Given the description of an element on the screen output the (x, y) to click on. 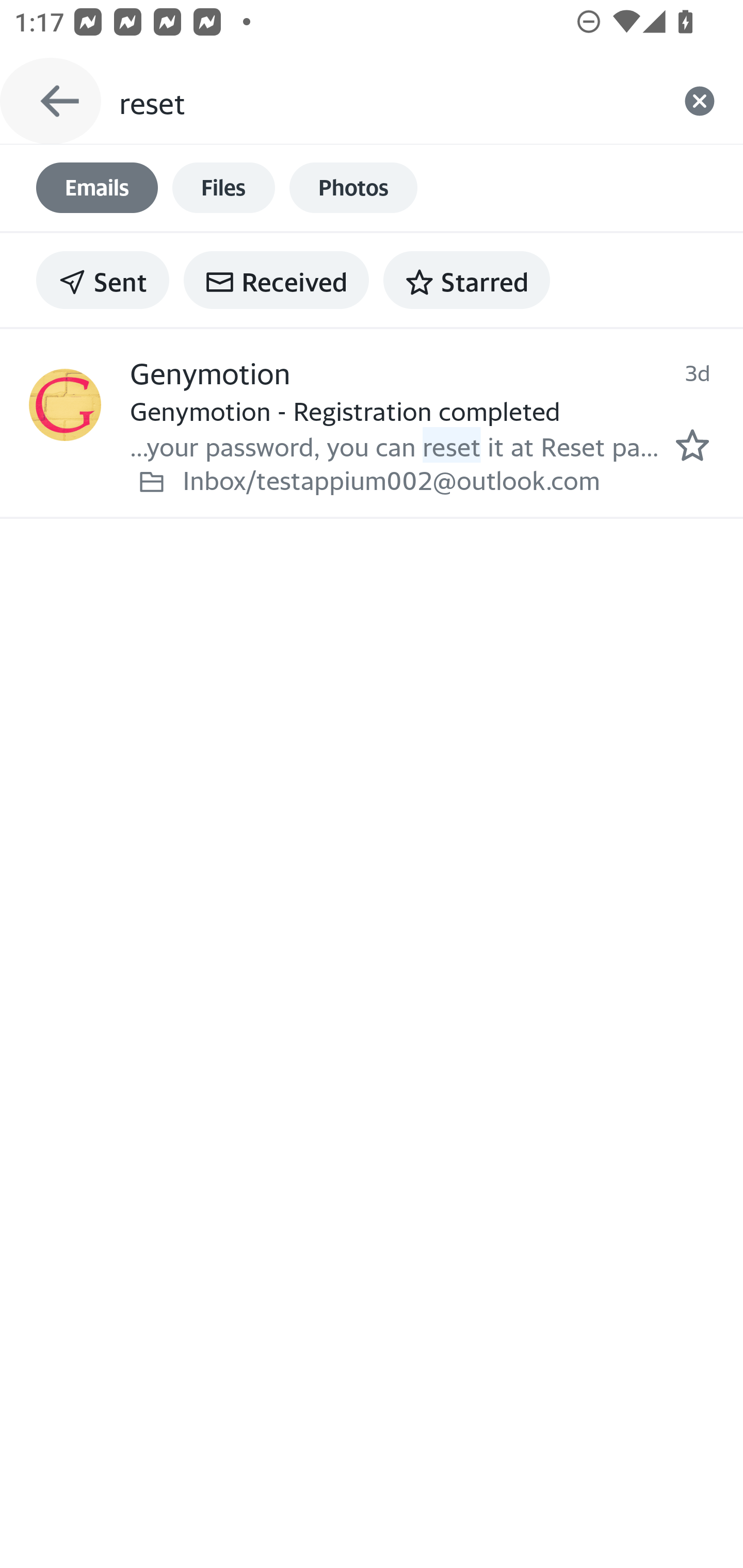
Back (50, 101)
reset (387, 101)
Clear (699, 101)
Emails (96, 188)
Files (223, 188)
Photos (353, 188)
Sent (102, 279)
Received (276, 279)
Starred (466, 279)
Profile
Genymotion (64, 404)
Mark as starred. (692, 444)
